Given the description of an element on the screen output the (x, y) to click on. 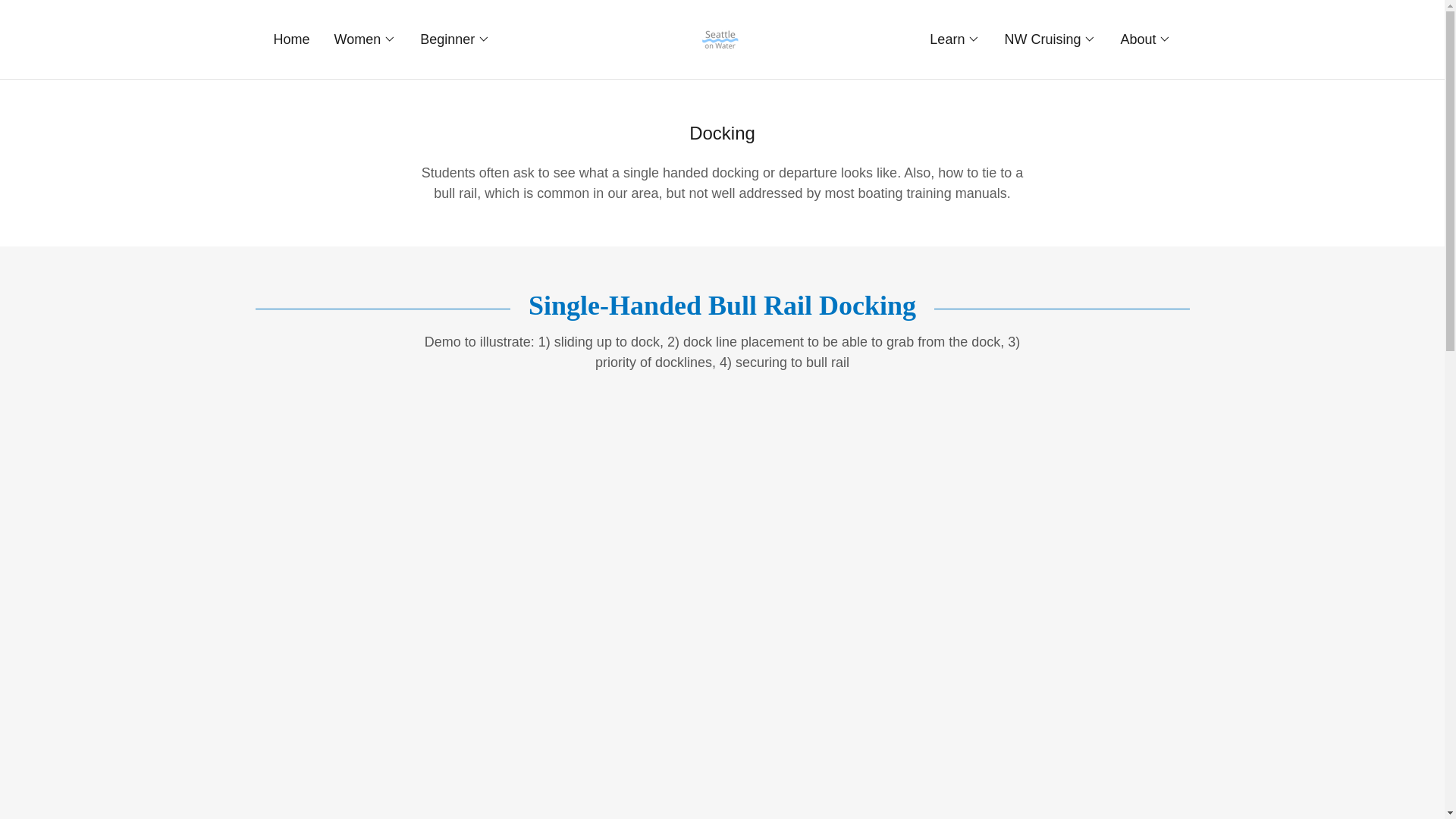
Seattle On The Water (721, 38)
Home (290, 39)
Beginner (454, 39)
Women (365, 39)
